Given the description of an element on the screen output the (x, y) to click on. 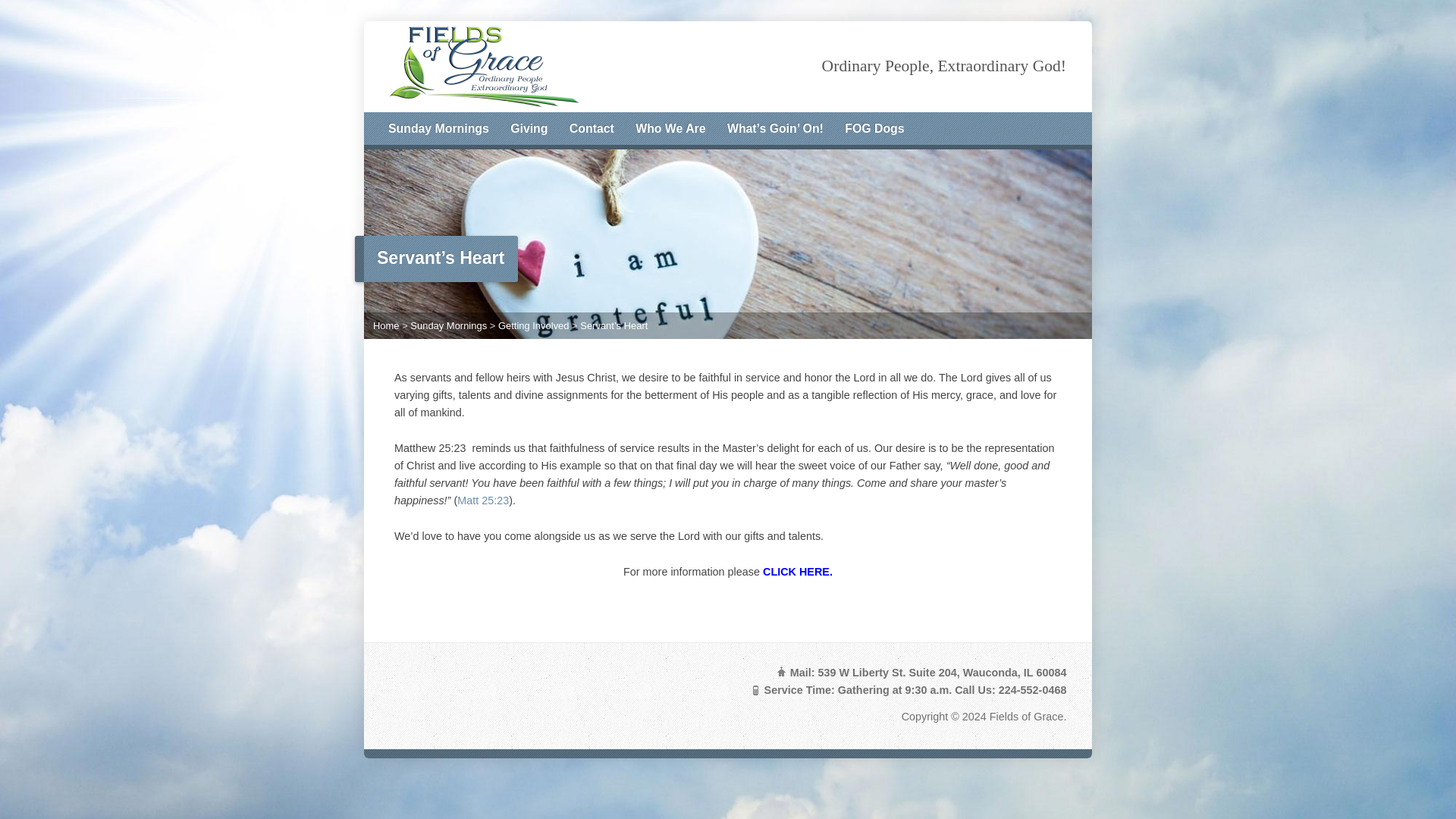
Getting Involved (533, 325)
FOG Dogs (874, 128)
Home (385, 325)
Matt 25:23 (482, 500)
Sunday Mornings (438, 128)
Who We Are (669, 128)
Contact (591, 128)
Giving (529, 128)
Sunday Mornings (448, 325)
CLICK HERE. (797, 571)
